Given the description of an element on the screen output the (x, y) to click on. 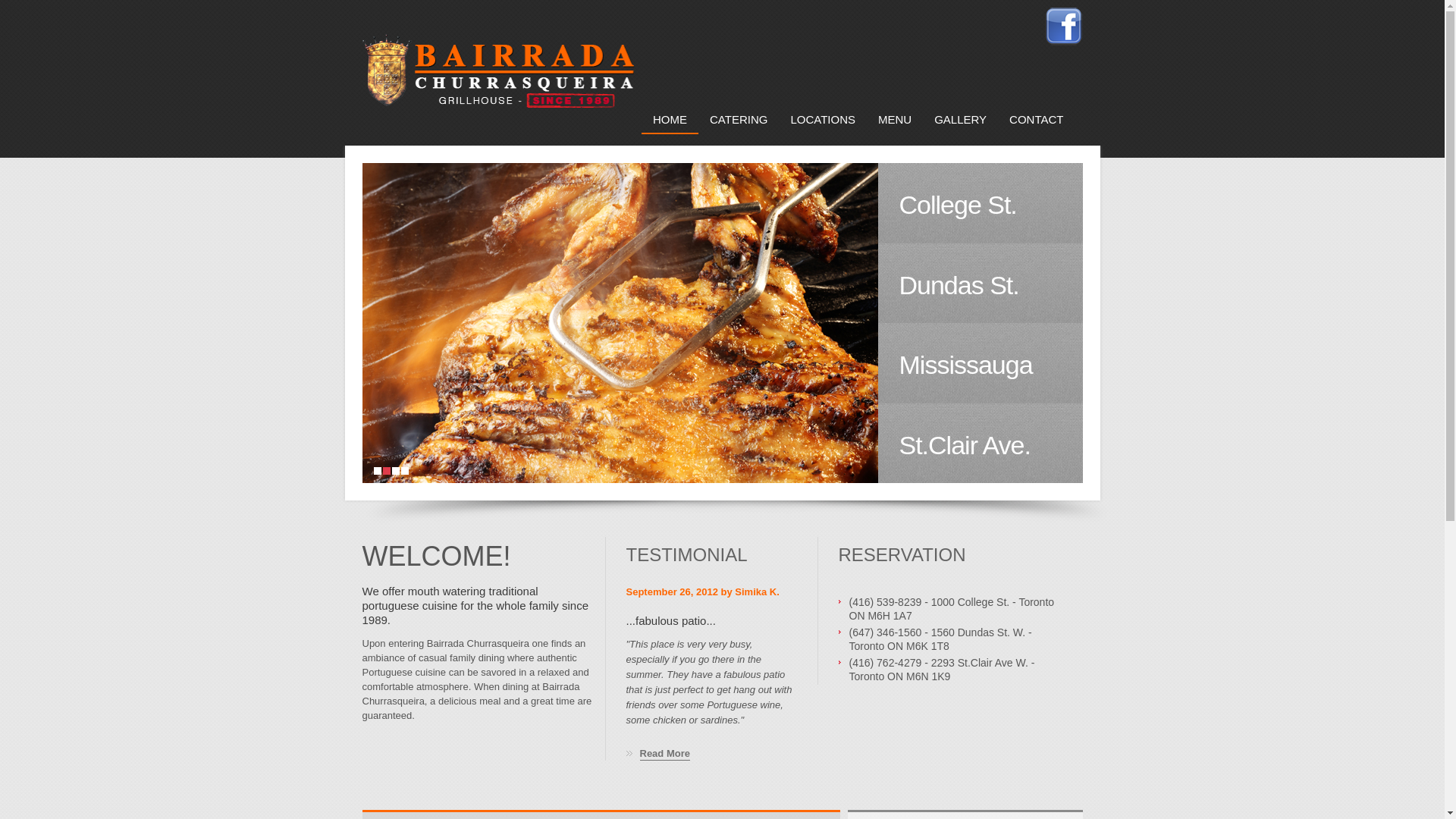
College St. Element type: text (980, 203)
(416) 539-8239 - 1000 College St. - Toronto ON M6H 1A7 Element type: text (959, 608)
  Element type: text (497, 80)
CONTACT Element type: text (1035, 123)
Mississauga Element type: text (980, 363)
Dundas St. Element type: text (980, 282)
4 Element type: text (403, 470)
(647) 346-1560 - 1560 Dundas St. W. - Toronto ON M6K 1T8 Element type: text (959, 638)
LOCATIONS Element type: text (822, 123)
September 26, 2012 by Simika K. Element type: text (702, 591)
3 Element type: text (394, 470)
GALLERY Element type: text (959, 123)
Read More Element type: text (658, 753)
1 Element type: text (376, 470)
2 Element type: text (385, 470)
(416) 762-4279 - 2293 St.Clair Ave W. - Toronto ON M6N 1K9 Element type: text (959, 669)
CATERING Element type: text (738, 123)
HOME Element type: text (669, 123)
MENU Element type: text (894, 123)
St.Clair Ave. Element type: text (980, 443)
